Given the description of an element on the screen output the (x, y) to click on. 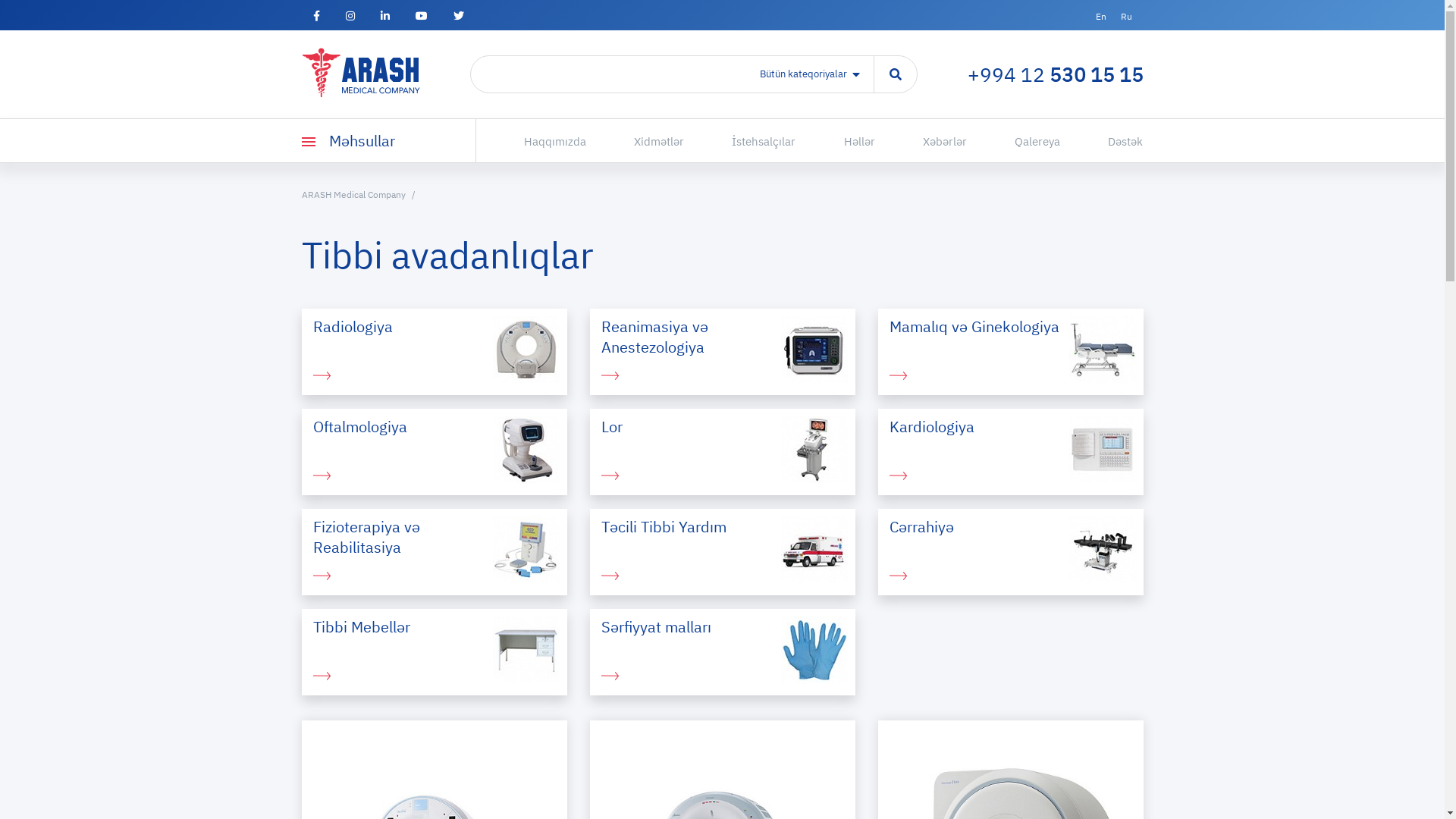
ARASH Medical Company Element type: text (360, 194)
Radiologiya Element type: text (434, 351)
Kardiologiya Element type: text (1010, 451)
En Element type: text (1100, 15)
Qalereya Element type: text (1037, 141)
Lor Element type: text (722, 451)
+994 12 530 15 15 Element type: text (1055, 74)
Ru Element type: text (1126, 15)
Oftalmologiya Element type: text (434, 451)
